Given the description of an element on the screen output the (x, y) to click on. 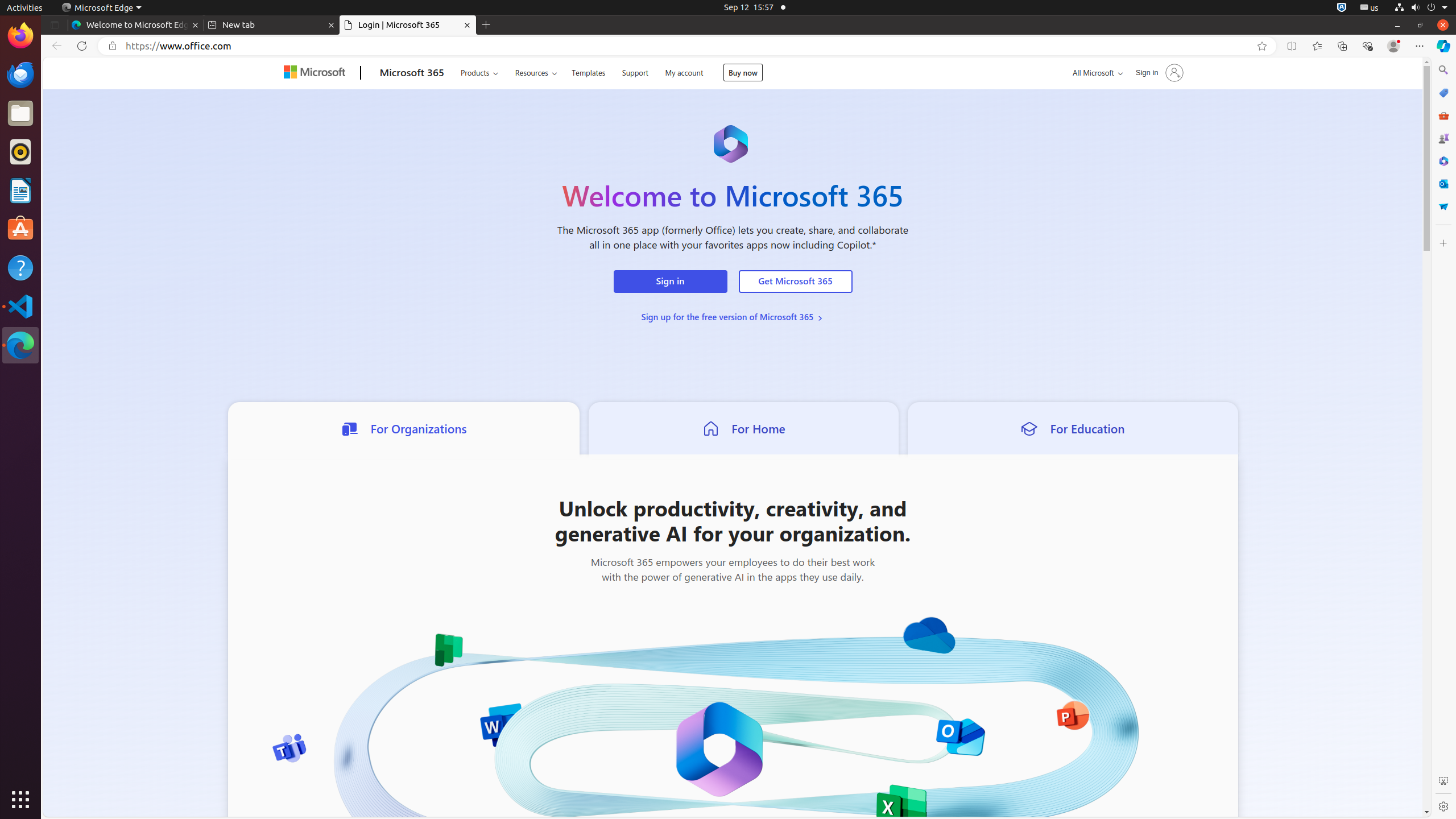
Tab actions menu Element type: push-button (54, 24)
Drop Element type: push-button (1443, 206)
Rhythmbox Element type: push-button (20, 151)
Microsoft Shopping Element type: push-button (1443, 92)
For Organizations Element type: page-tab (403, 428)
